Given the description of an element on the screen output the (x, y) to click on. 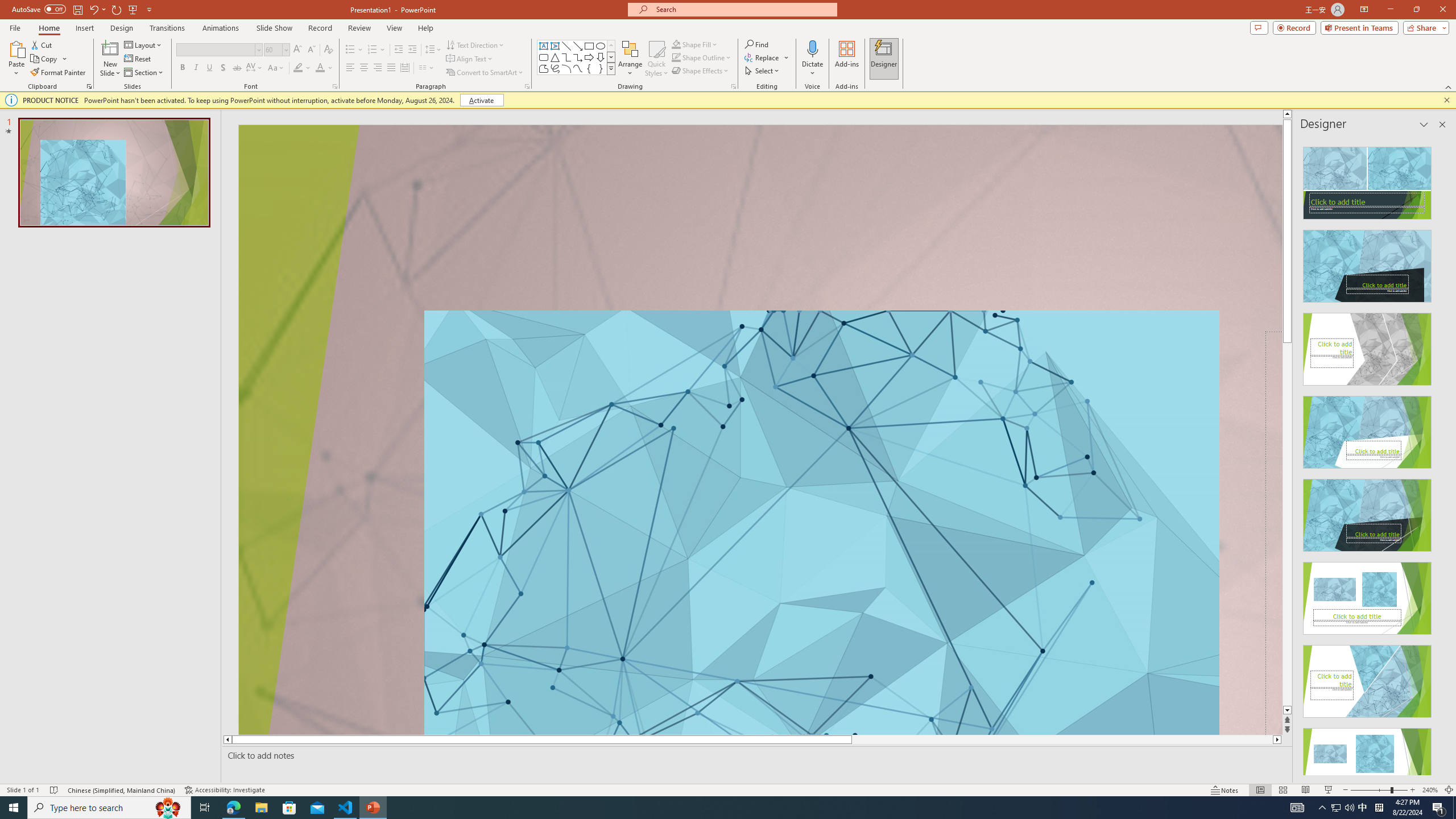
Activate (481, 100)
Zoom 240% (1430, 790)
Shape Outline Dark Red, Accent 1 (675, 56)
Close this message (1446, 99)
